Given the description of an element on the screen output the (x, y) to click on. 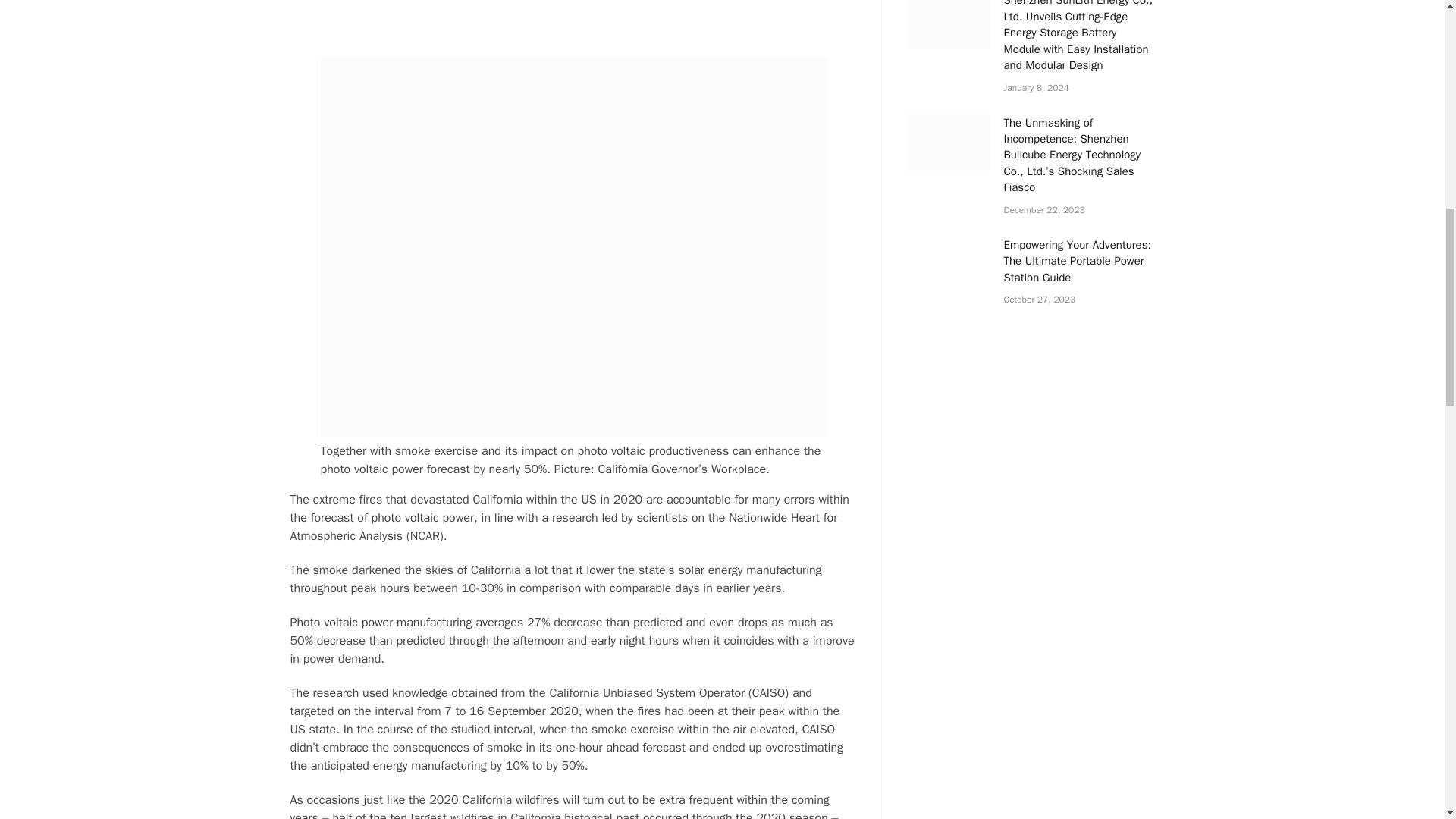
Pinterest (573, 32)
LinkedIn (573, 17)
